Given the description of an element on the screen output the (x, y) to click on. 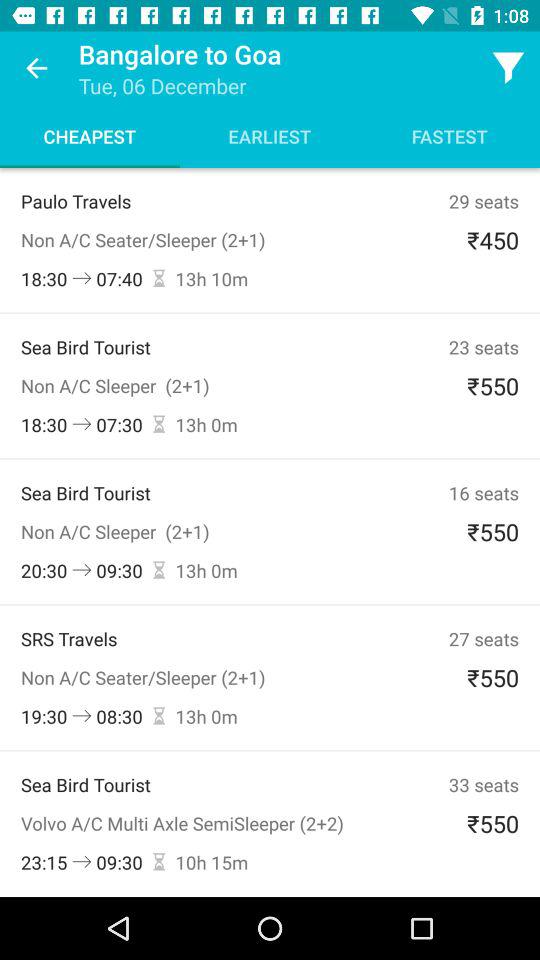
select item next to bangalore to goa item (36, 68)
